Given the description of an element on the screen output the (x, y) to click on. 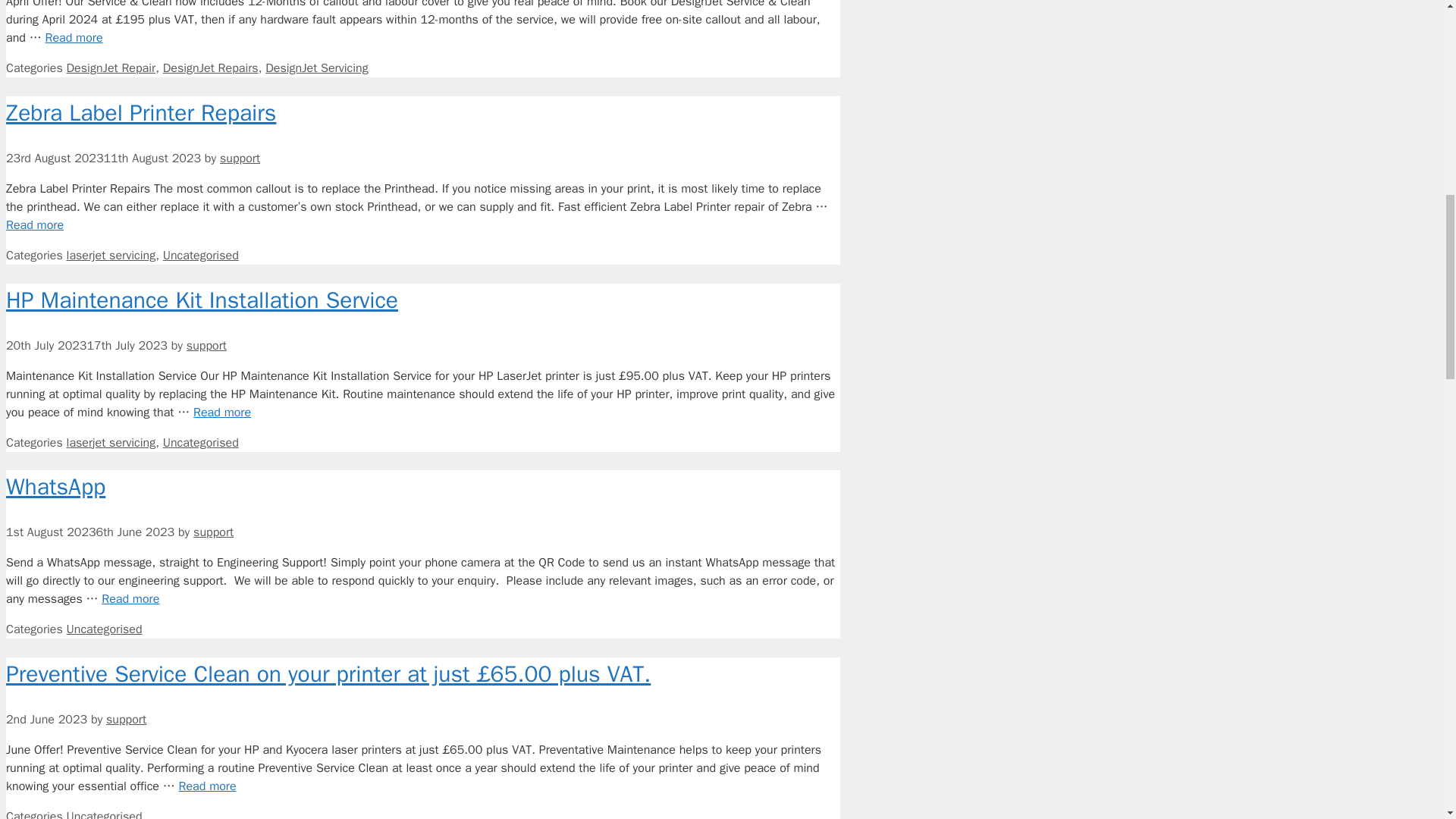
laserjet servicing (110, 442)
HP Maintenance Kit Installation Service (201, 299)
Uncategorised (200, 442)
DesignJet Repairs (211, 68)
Zebra Label Printer Repairs (34, 224)
HP Maintenance Kit Installation Service (221, 412)
Read more (73, 37)
laserjet servicing (110, 255)
DesignJet Repair (110, 68)
support (206, 345)
Read more (221, 412)
DesignJet Servicing (316, 68)
View all posts by support (212, 531)
View all posts by support (126, 719)
Read more (34, 224)
